Given the description of an element on the screen output the (x, y) to click on. 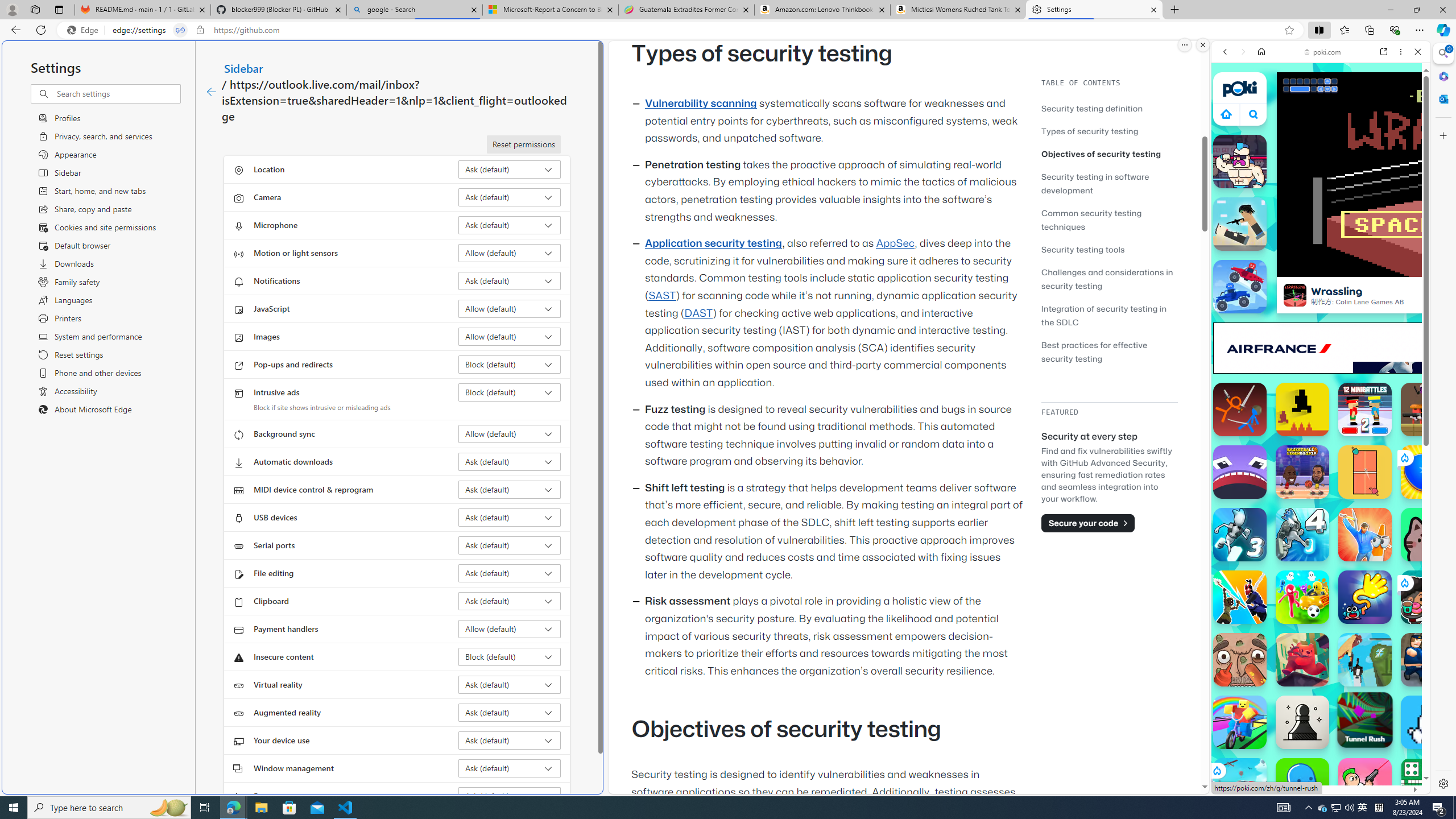
Two Player Games (1320, 323)
Serial ports Ask (default) (509, 545)
Ping Pong Ping Pong (1364, 471)
Games for Girls (1320, 407)
Getaway Shootout Getaway Shootout (1364, 659)
Payment handlers Allow (default) (509, 628)
Security testing definition (1109, 108)
Stickman Fight: Ragdoll Stickman Fight: Ragdoll (1239, 409)
Integration of security testing in the SDLC (1104, 314)
